Given the description of an element on the screen output the (x, y) to click on. 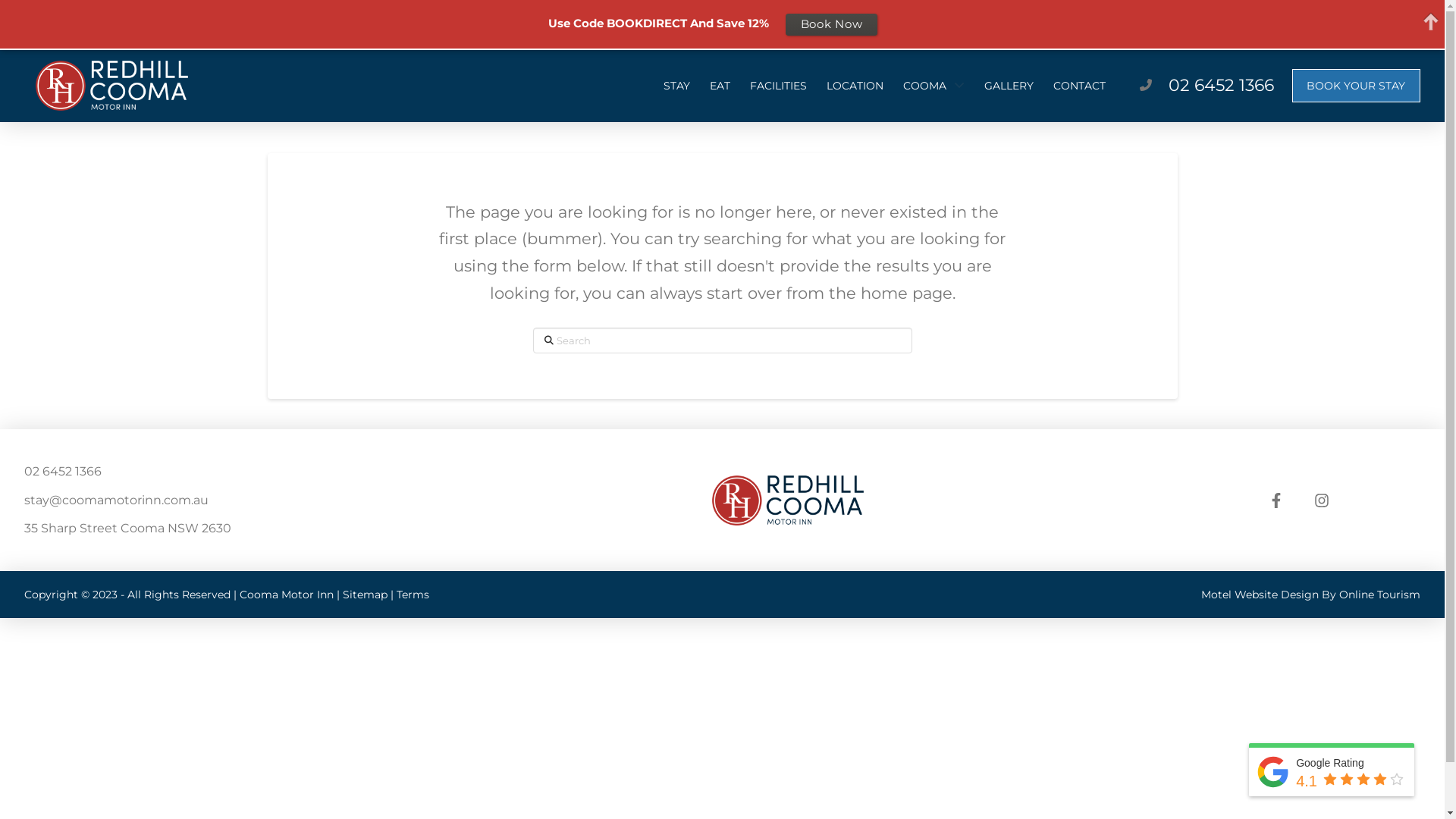
Cooma Motor Inn Element type: text (286, 594)
BOOK YOUR STAY Element type: text (1356, 85)
GALLERY Element type: text (1008, 85)
EAT Element type: text (719, 85)
LOCATION Element type: text (854, 85)
Motel Website Design Element type: text (1259, 594)
Google Rating
4.1 Element type: text (1331, 771)
COOMA Element type: text (933, 85)
STAY Element type: text (676, 85)
Terms Element type: text (412, 594)
02 6452 1366 Element type: text (1221, 85)
FACILITIES Element type: text (778, 85)
CONTACT Element type: text (1079, 85)
Sitemap Element type: text (364, 594)
Online Tourism Element type: text (1379, 594)
